Given the description of an element on the screen output the (x, y) to click on. 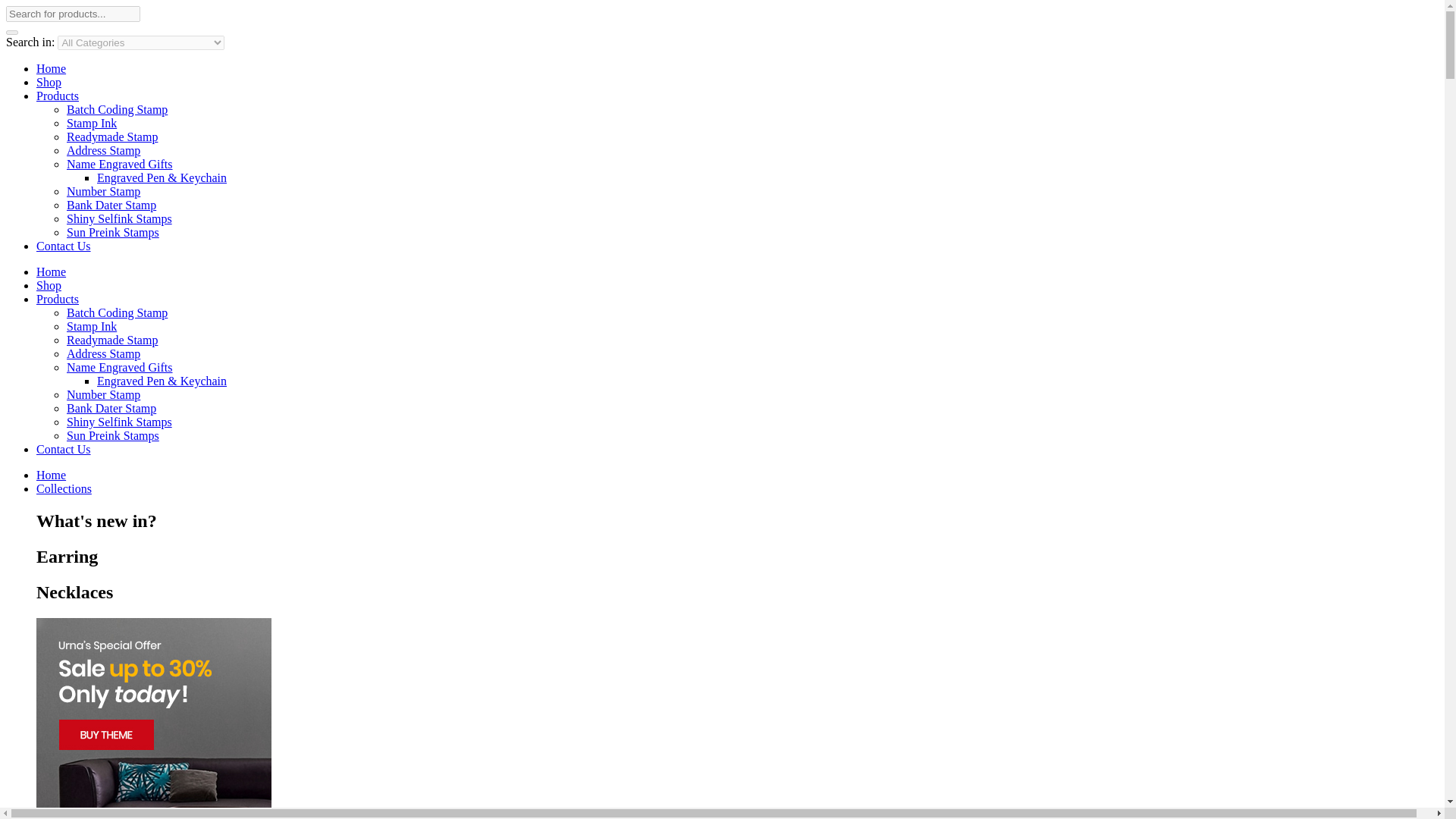
Name Engraved Gifts (119, 367)
Bank Dater Stamp (110, 205)
Sun Preink Stamps (112, 435)
Address Stamp (102, 150)
Number Stamp (102, 191)
Products (57, 95)
Shop (48, 82)
Batch Coding Stamp (116, 312)
Name Engraved Gifts (119, 164)
banner-menu (153, 718)
Shiny Selfink Stamps (118, 218)
Home (50, 271)
Shop (48, 285)
Address Stamp (102, 353)
Products (57, 298)
